Given the description of an element on the screen output the (x, y) to click on. 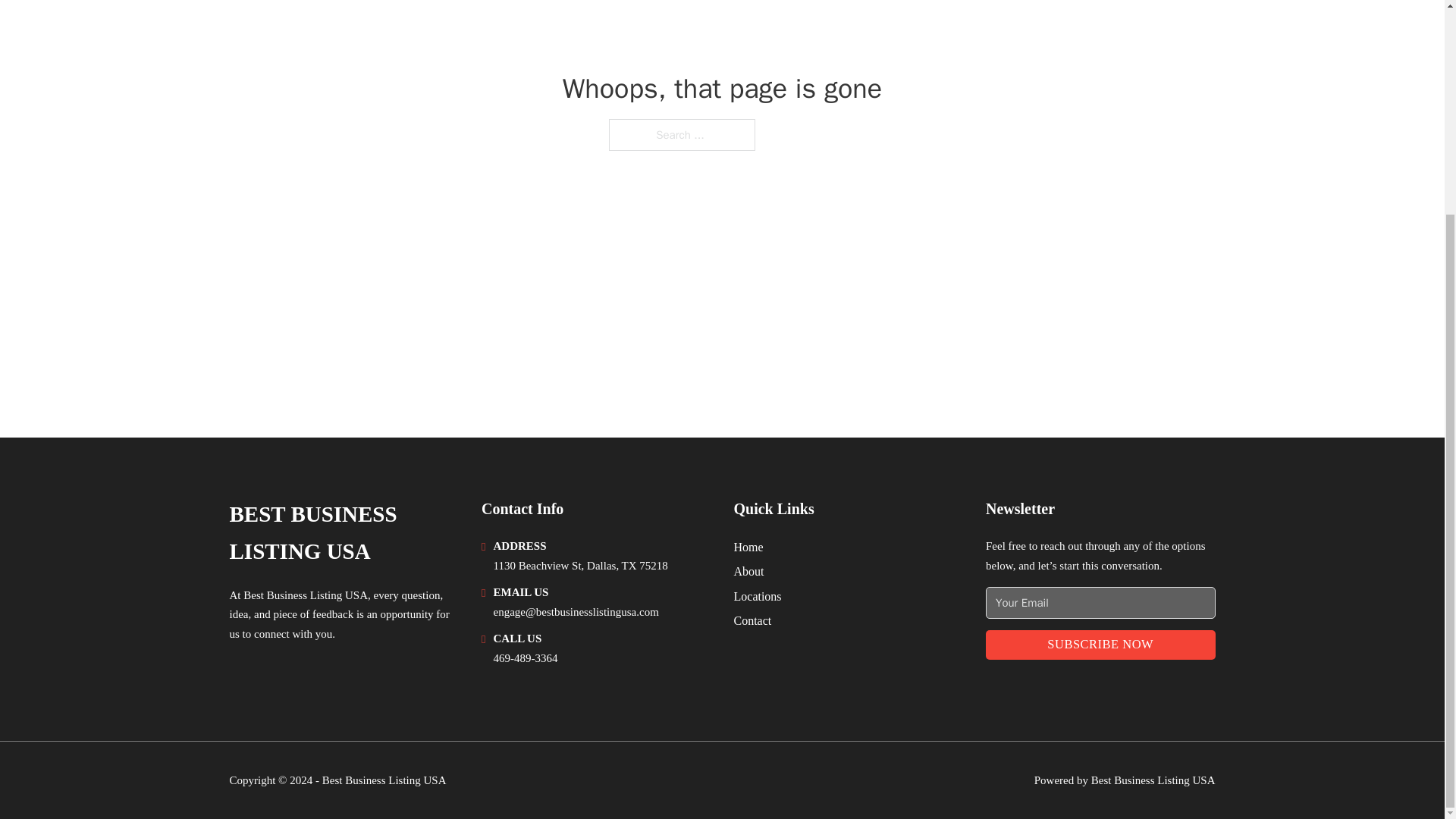
Home (747, 547)
469-489-3364 (525, 657)
About (748, 571)
BEST BUSINESS LISTING USA (343, 533)
Contact (752, 620)
Locations (757, 596)
SUBSCRIBE NOW (1100, 644)
